Given the description of an element on the screen output the (x, y) to click on. 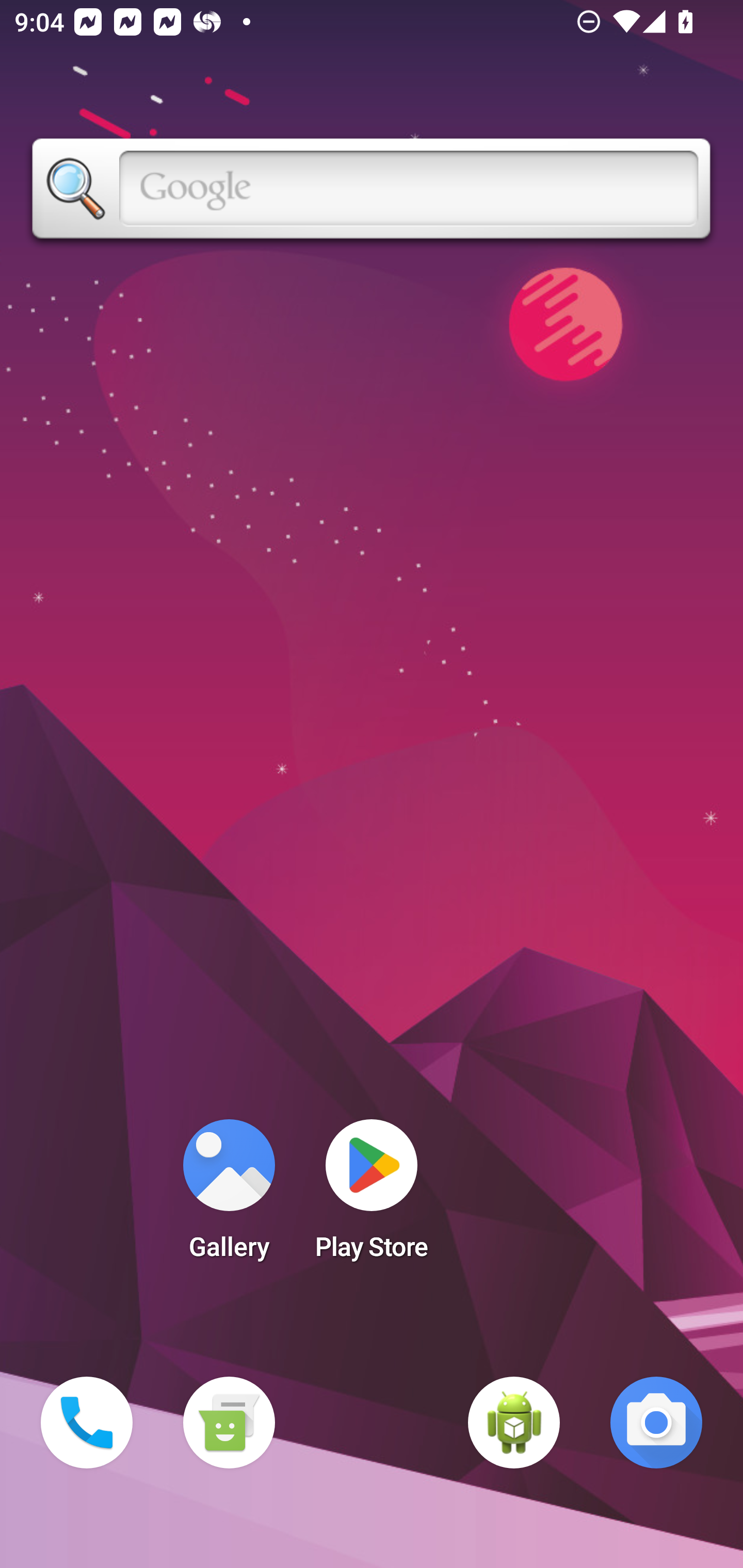
Gallery (228, 1195)
Play Store (371, 1195)
Phone (86, 1422)
Messaging (228, 1422)
WebView Browser Tester (513, 1422)
Camera (656, 1422)
